Given the description of an element on the screen output the (x, y) to click on. 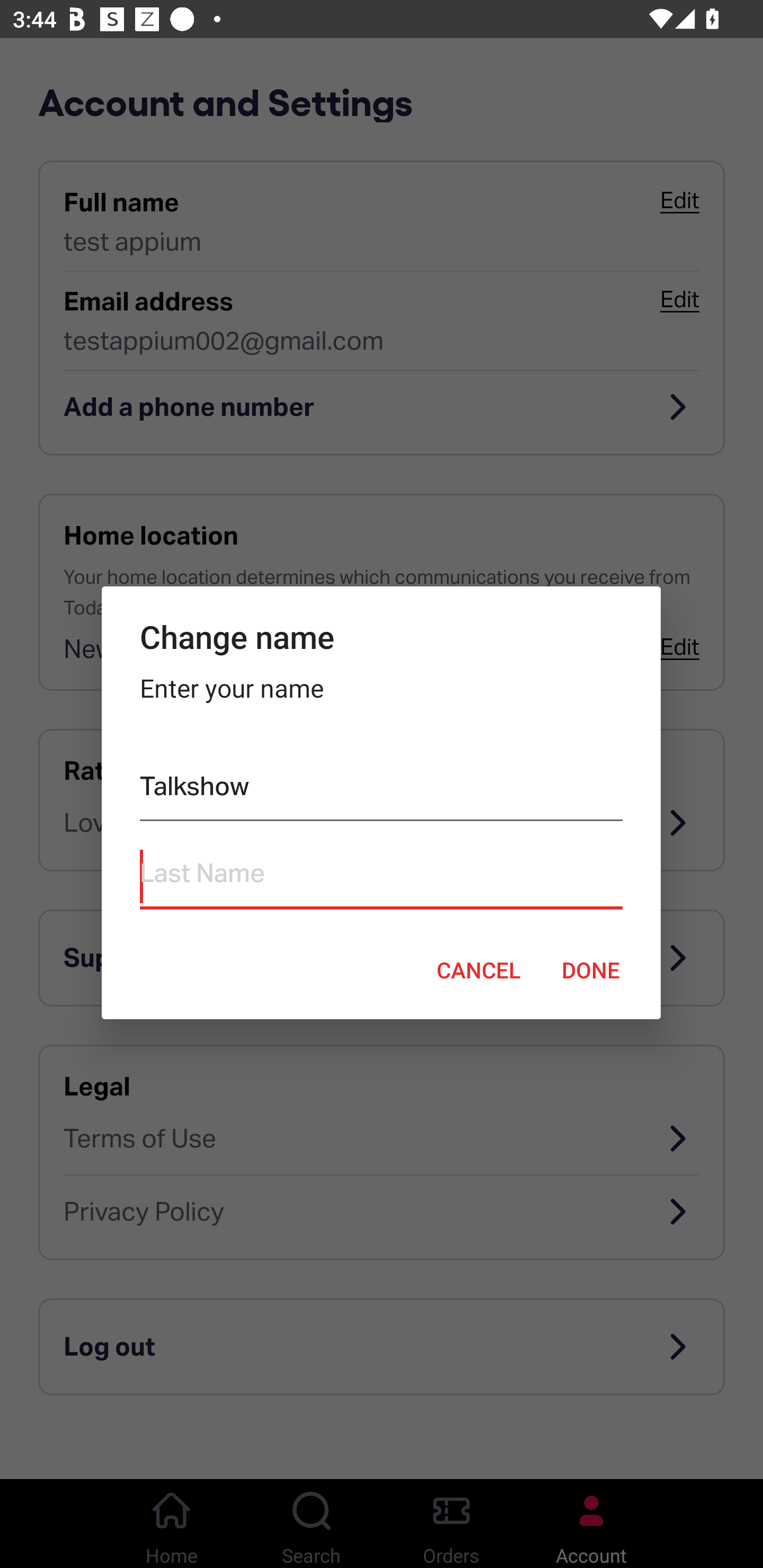
Talkshow (380, 790)
Last Name (380, 877)
CANCEL (478, 969)
DONE (590, 969)
